Given the description of an element on the screen output the (x, y) to click on. 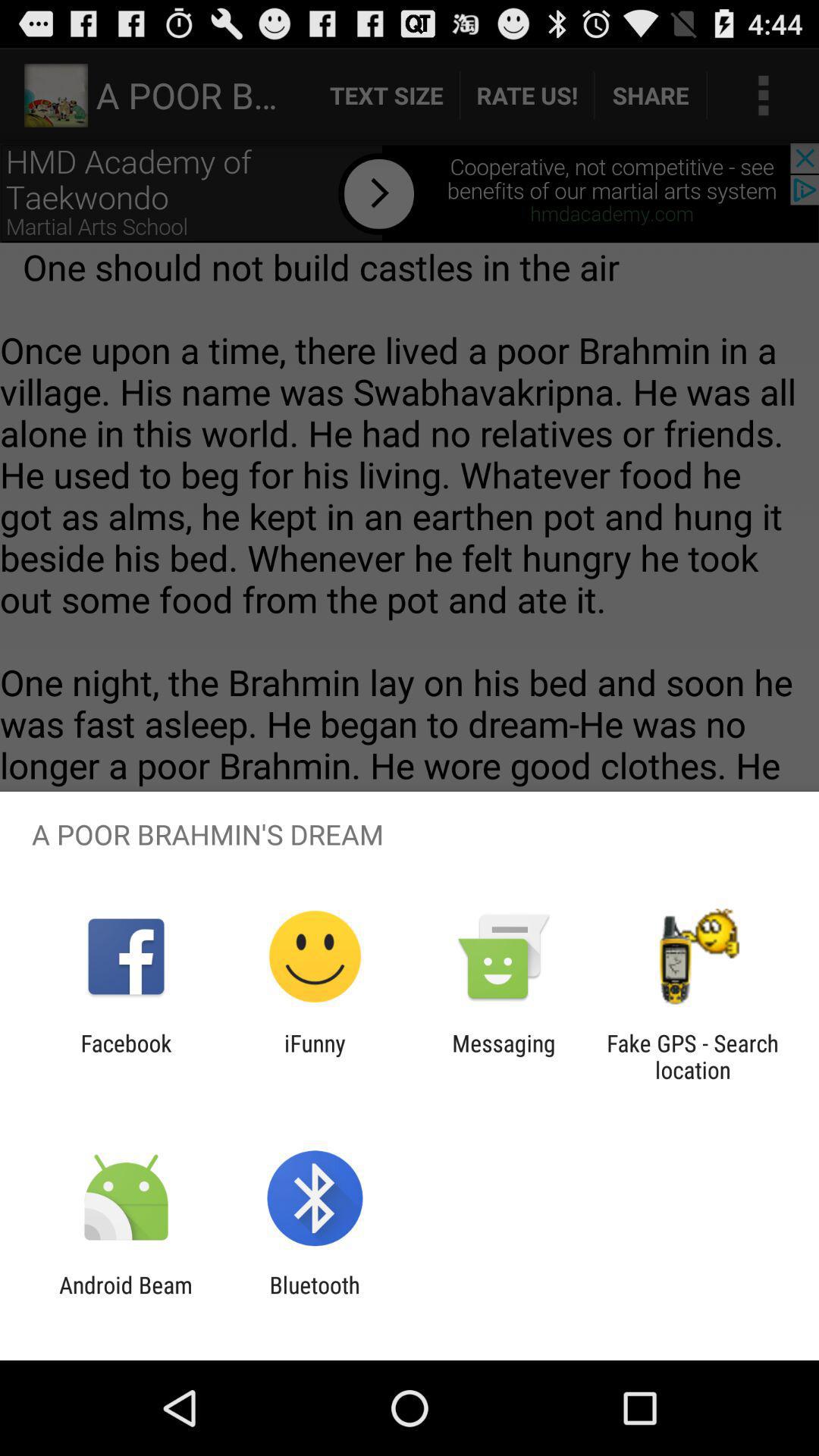
turn on icon to the left of ifunny app (125, 1056)
